Given the description of an element on the screen output the (x, y) to click on. 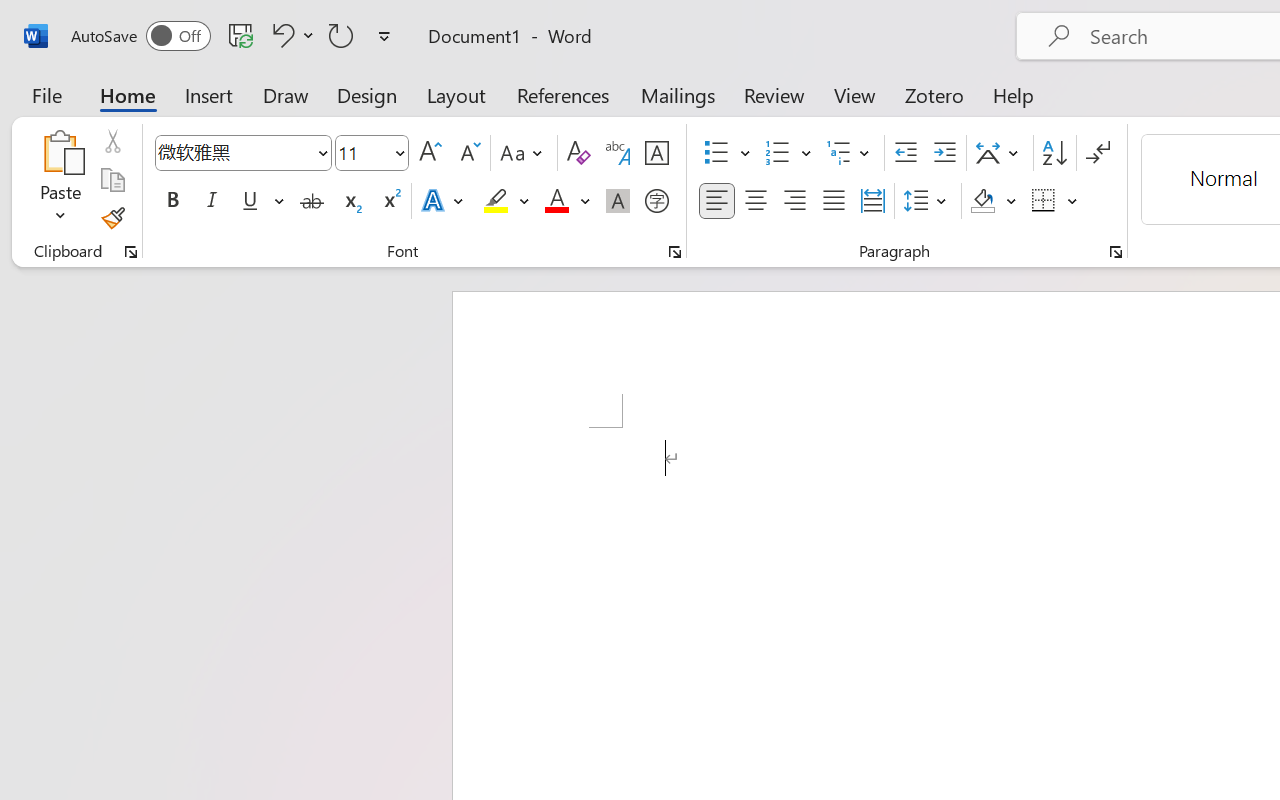
Undo <ApplyStyleToDoc>b__0 (280, 35)
